Given the description of an element on the screen output the (x, y) to click on. 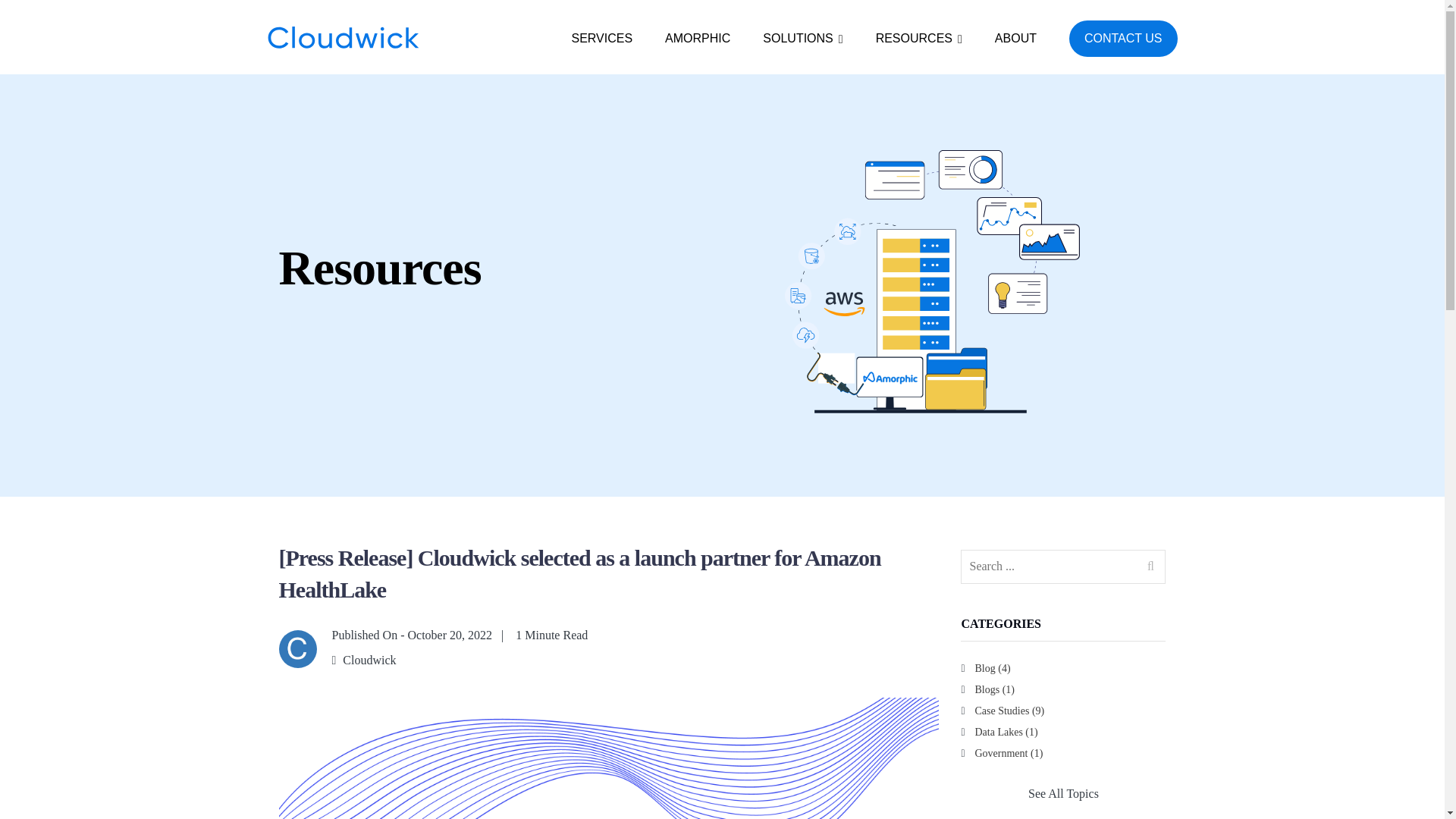
See All Topics (1063, 793)
CONTACT US (1122, 38)
AMORPHIC (697, 38)
SOLUTIONS (802, 38)
RESOURCES (919, 38)
October 20, 2022 (450, 634)
SERVICES (600, 38)
ABOUT (1015, 38)
Solid Media (342, 37)
Cloudwick (369, 659)
